Given the description of an element on the screen output the (x, y) to click on. 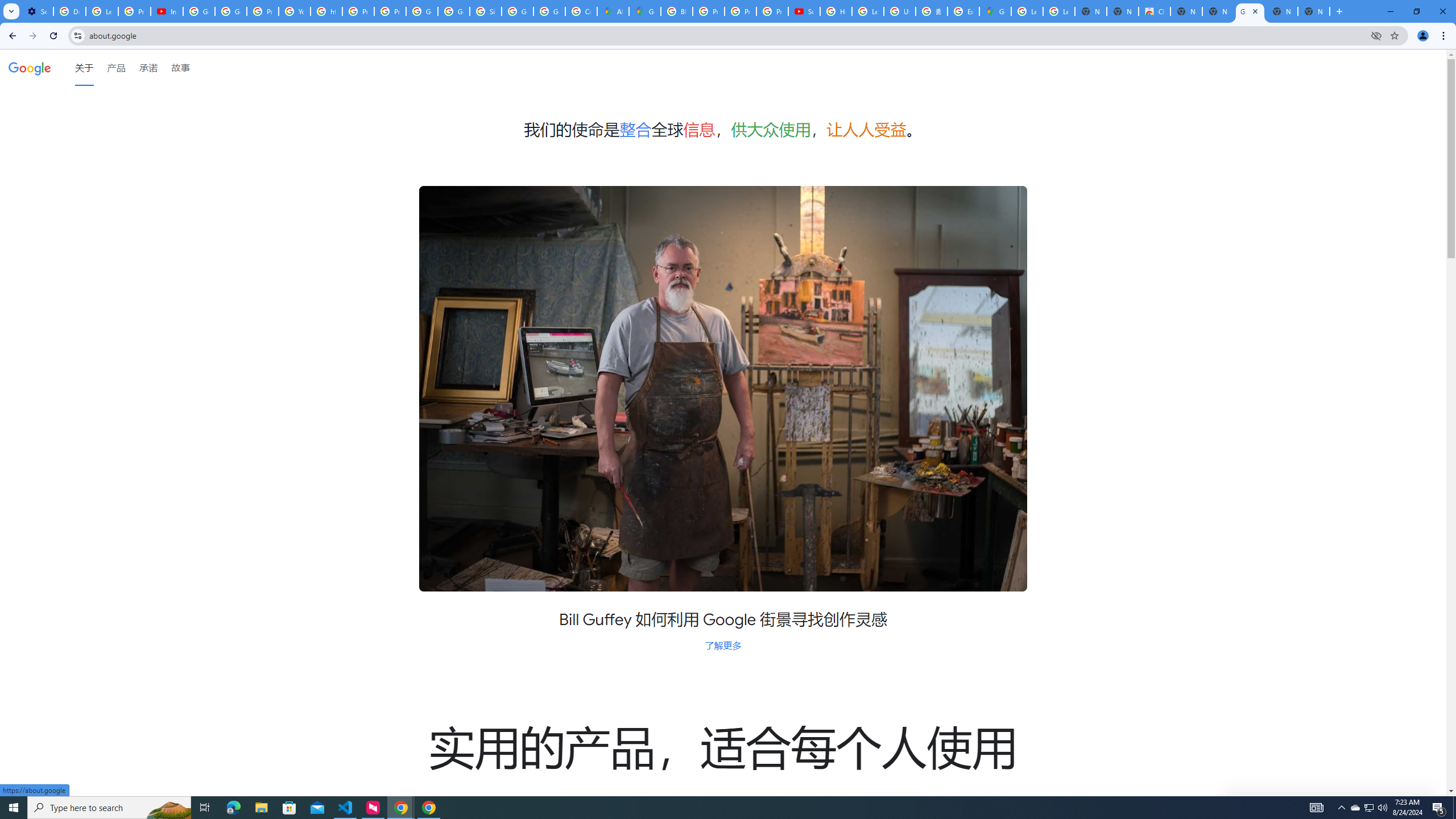
Privacy Help Center - Policies Help (740, 11)
Google (29, 67)
Introduction | Google Privacy Policy - YouTube (166, 11)
Sign in - Google Accounts (485, 11)
Chrome Web Store (1154, 11)
